Given the description of an element on the screen output the (x, y) to click on. 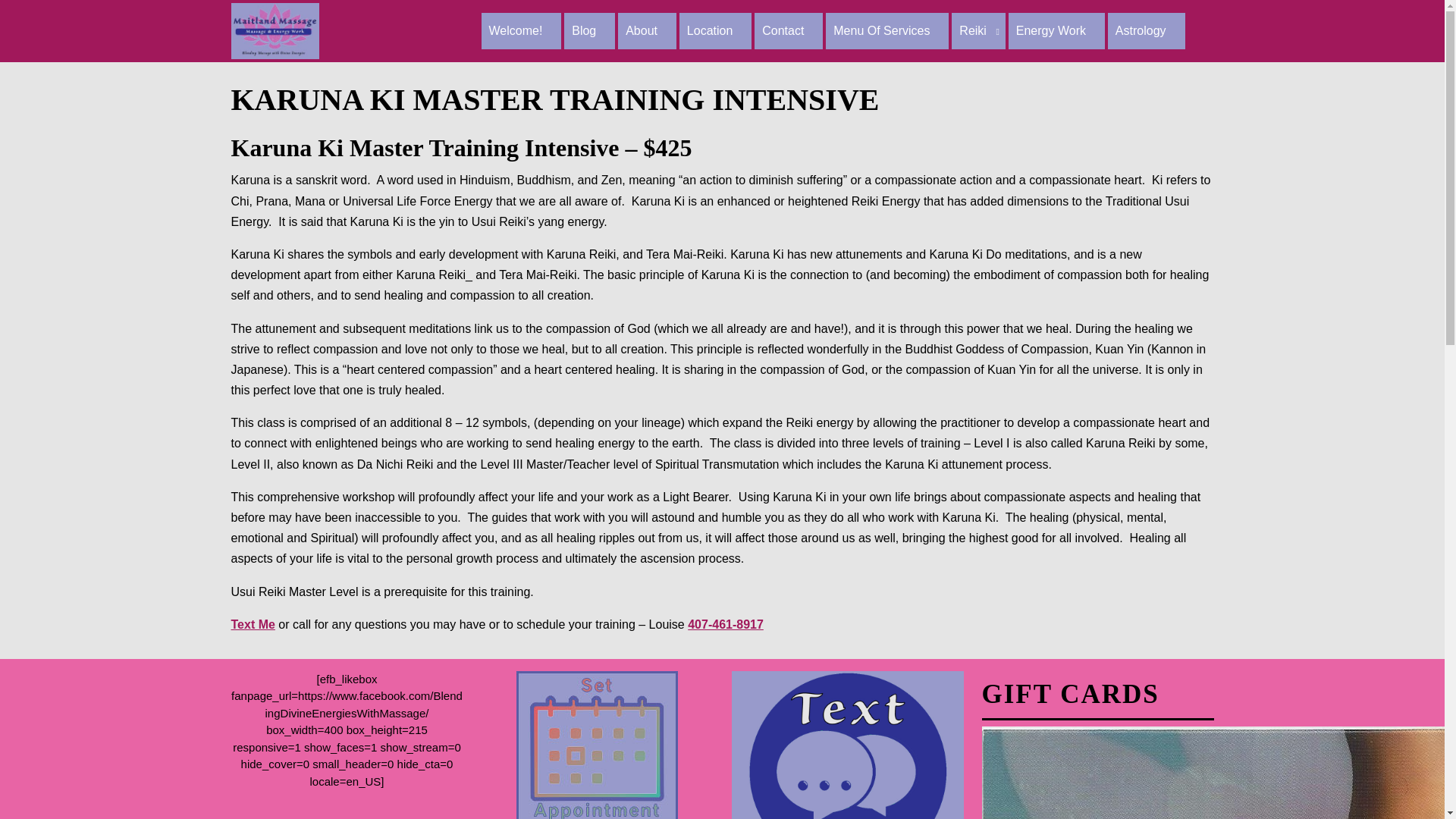
Location (715, 31)
Blog (589, 31)
About (647, 31)
Astrology (1146, 31)
407-461-8917 (724, 624)
Menu Of Services (887, 31)
Reiki (979, 31)
Contact (788, 31)
Text Me (252, 624)
Welcome! (520, 31)
Energy Work (1057, 31)
